Given the description of an element on the screen output the (x, y) to click on. 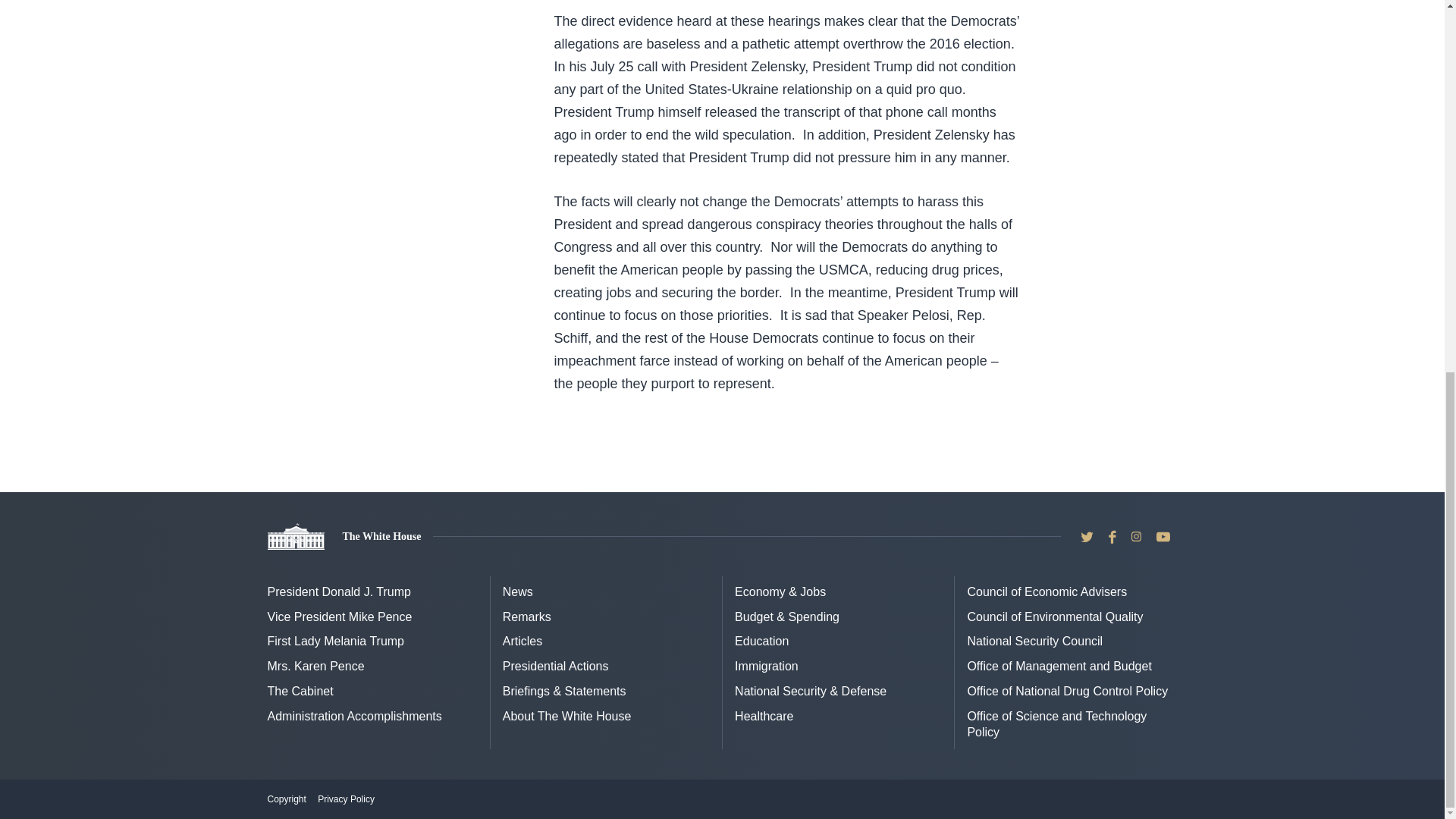
Vice President Mike Pence (339, 616)
Remarks (526, 616)
Articles (521, 640)
News (517, 591)
Council of Economic Advisers (1046, 591)
Healthcare (764, 716)
President Donald J. Trump (338, 591)
Presidential Actions (555, 666)
About The White House (566, 716)
First Lady Melania Trump (335, 640)
